Given the description of an element on the screen output the (x, y) to click on. 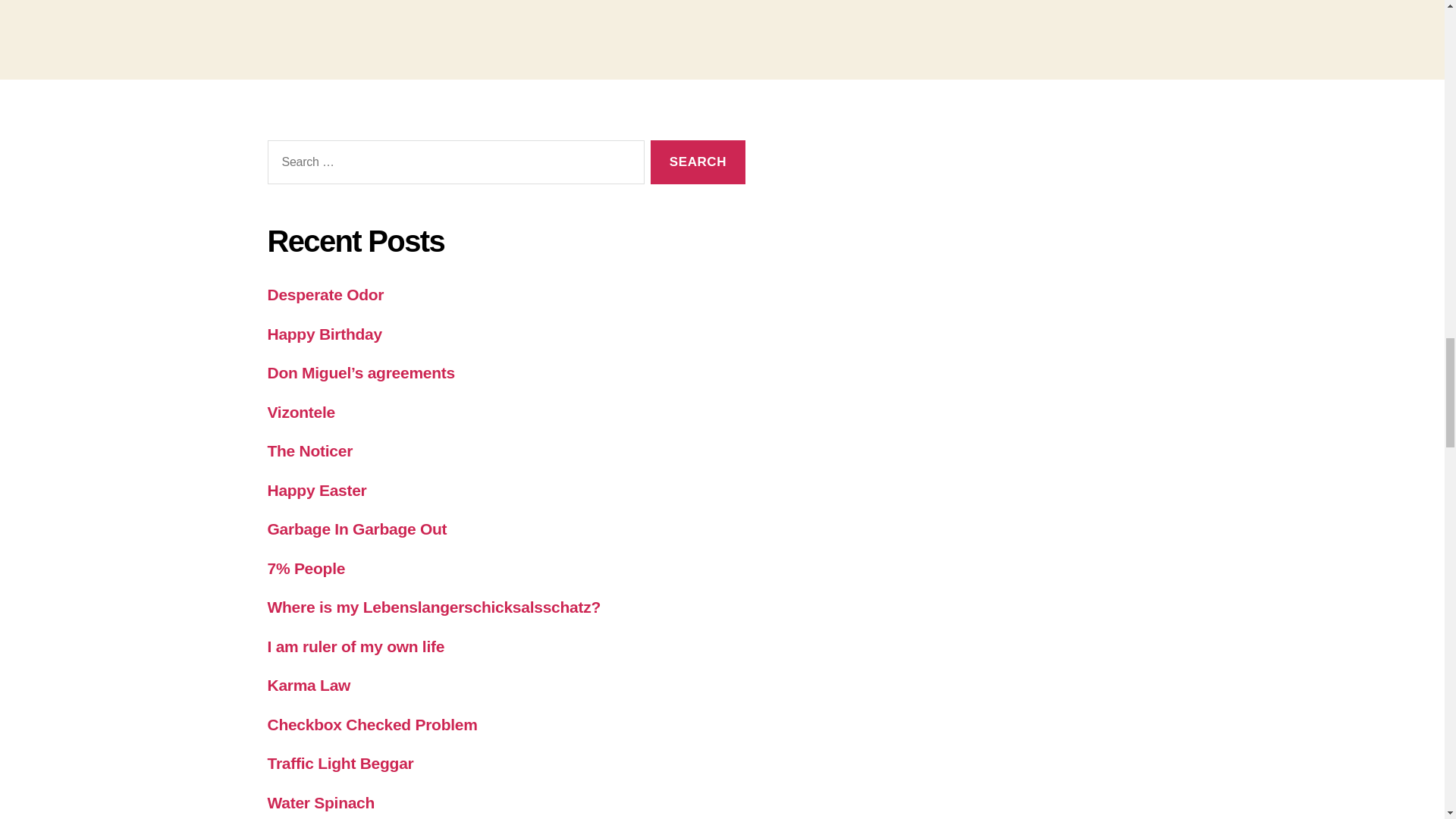
Search (697, 162)
Search (697, 162)
I am ruler of my own life (355, 646)
The Noticer (309, 450)
Happy Birthday (323, 334)
Vizontele (300, 411)
Where is my Lebenslangerschicksalsschatz? (432, 606)
Search (697, 162)
Garbage In Garbage Out (356, 528)
Desperate Odor (325, 294)
